Given the description of an element on the screen output the (x, y) to click on. 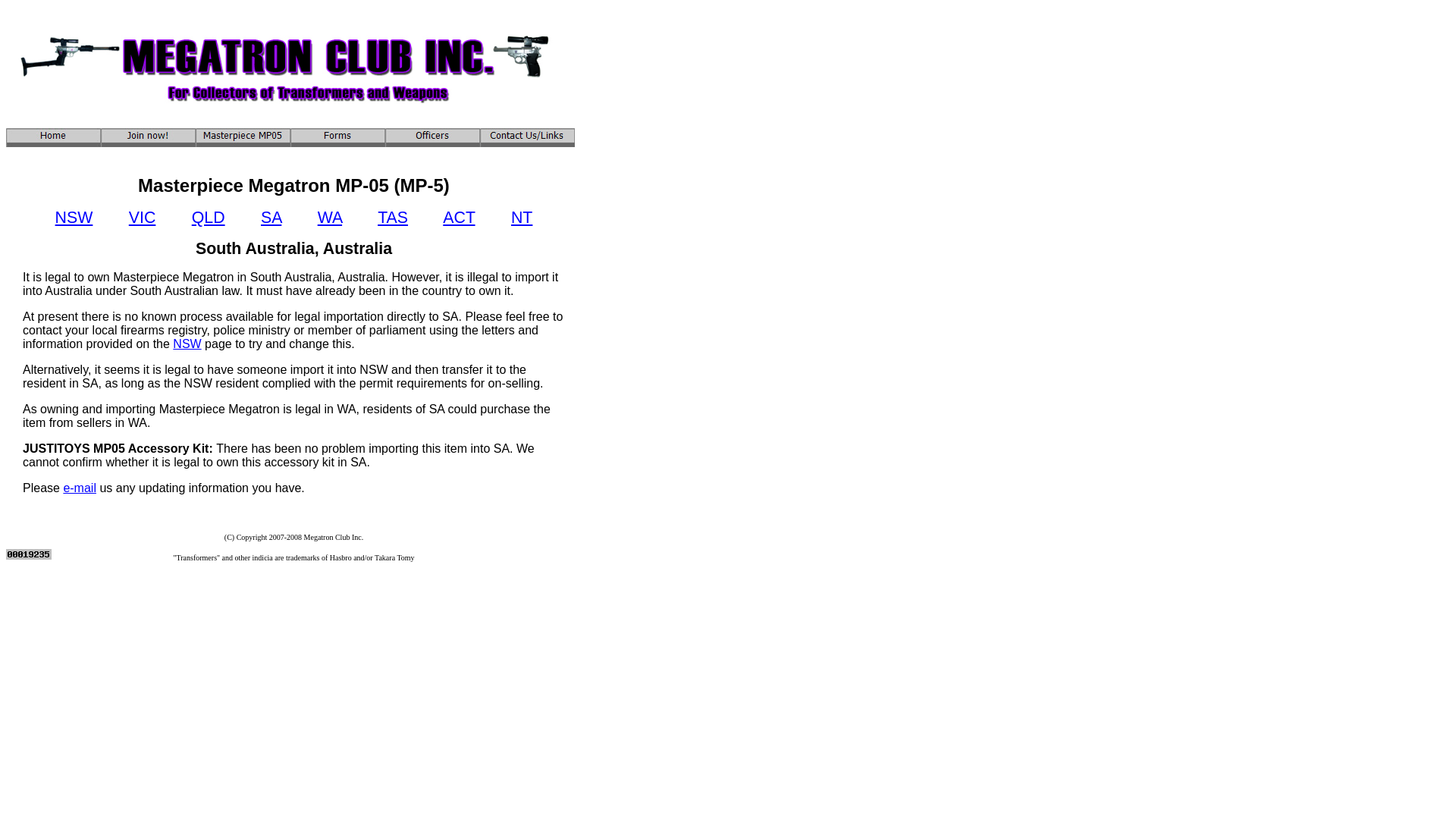
TAS Element type: text (392, 217)
e-mail Element type: text (79, 487)
SA Element type: text (270, 217)
NSW Element type: text (74, 217)
NSW Element type: text (186, 343)
VIC Element type: text (142, 217)
WA Element type: text (329, 217)
NT Element type: text (521, 217)
QLD Element type: text (208, 217)
ACT Element type: text (458, 217)
